Given the description of an element on the screen output the (x, y) to click on. 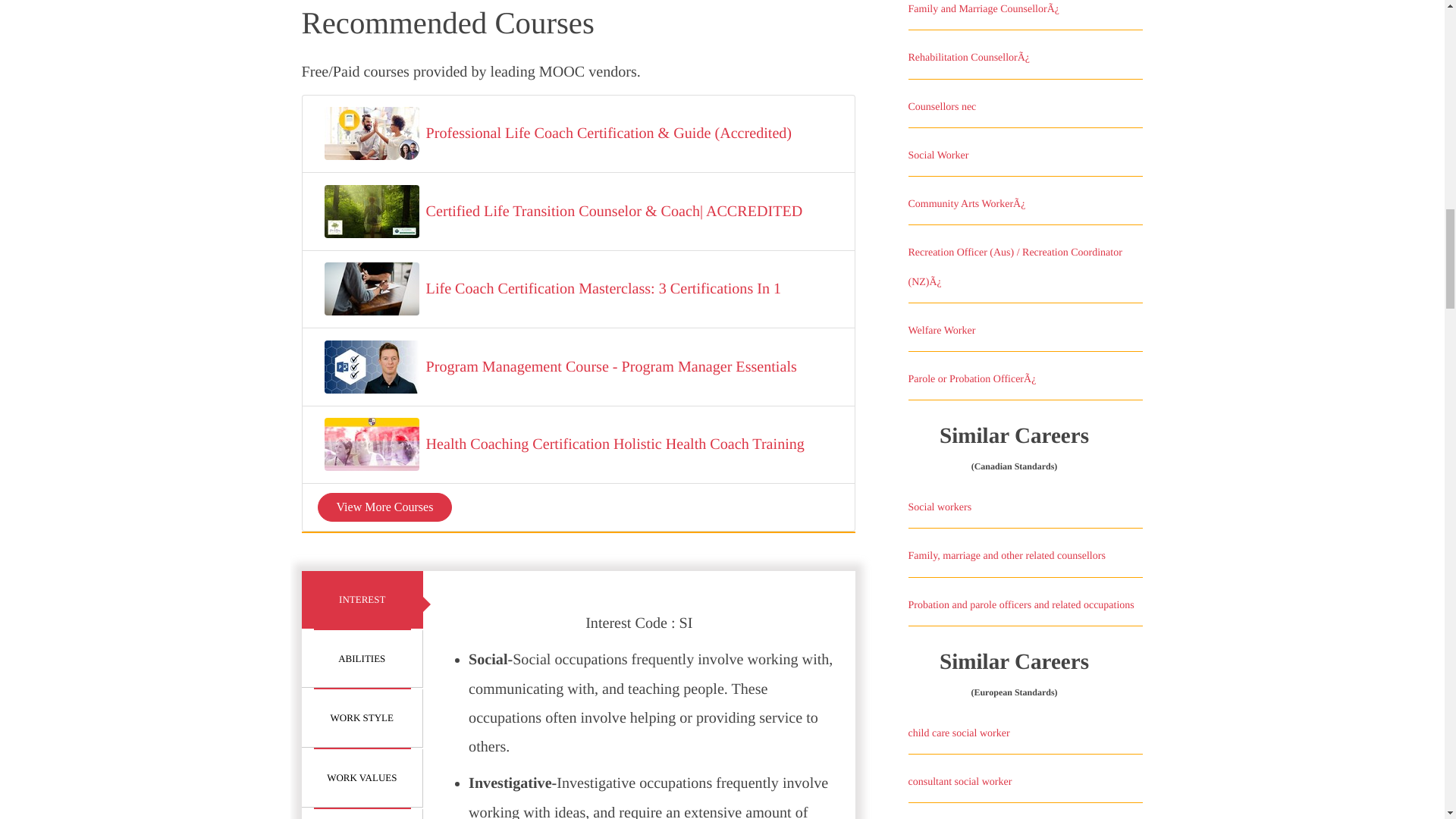
Program Management Course - Program Manager Essentials (611, 366)
Life Coach Certification Masterclass: 3 Certifications In 1 (603, 288)
Health Coaching Certification Holistic Health Coach Training (615, 443)
View More Courses (384, 507)
